Given the description of an element on the screen output the (x, y) to click on. 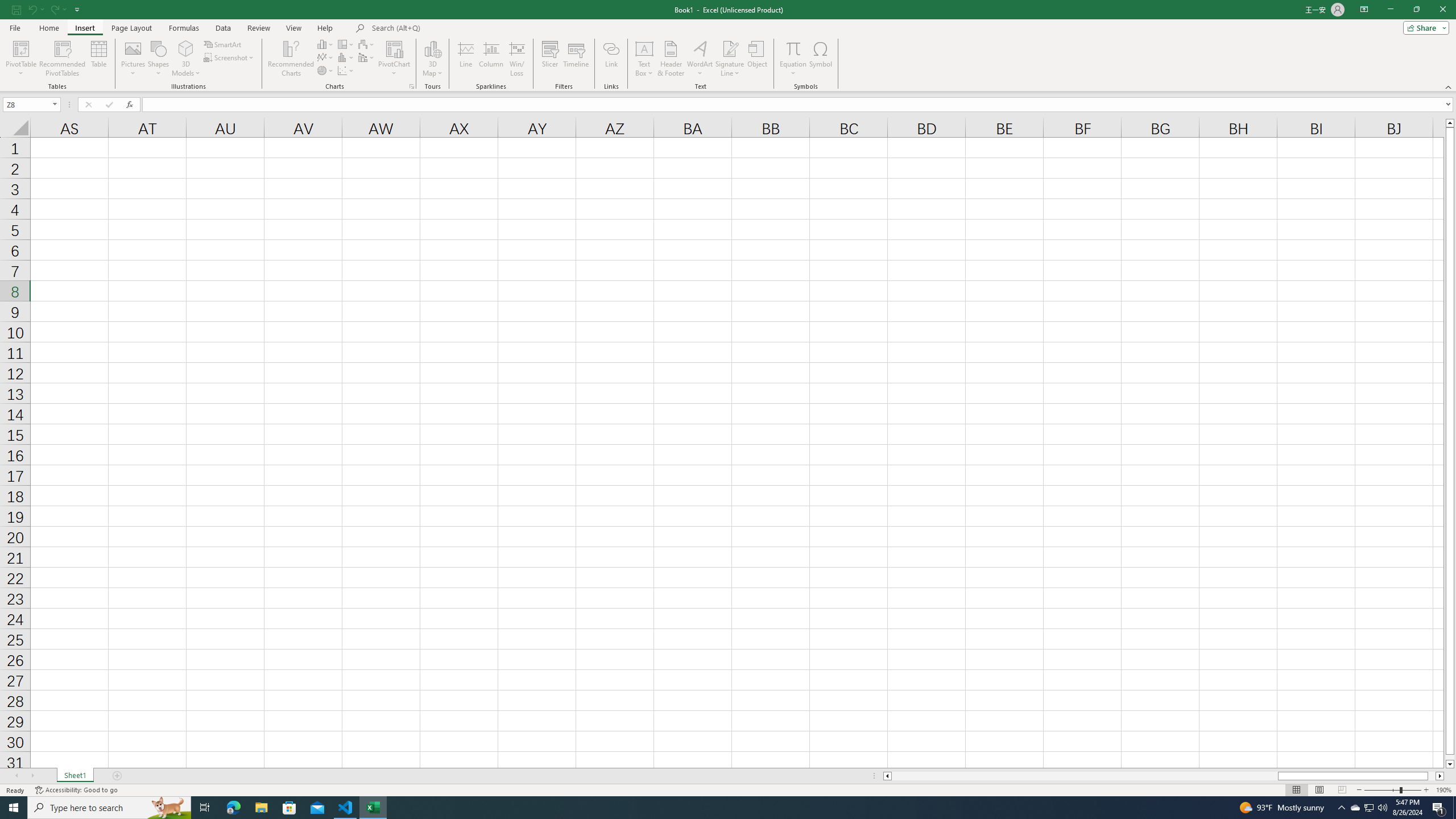
Shapes (158, 58)
PivotChart (394, 58)
PivotTable (20, 58)
Class: MsoCommandBar (728, 45)
Column (491, 58)
Insert Statistic Chart (346, 56)
Pictures (133, 58)
Header & Footer... (670, 58)
Recommended PivotTables (62, 58)
